Given the description of an element on the screen output the (x, y) to click on. 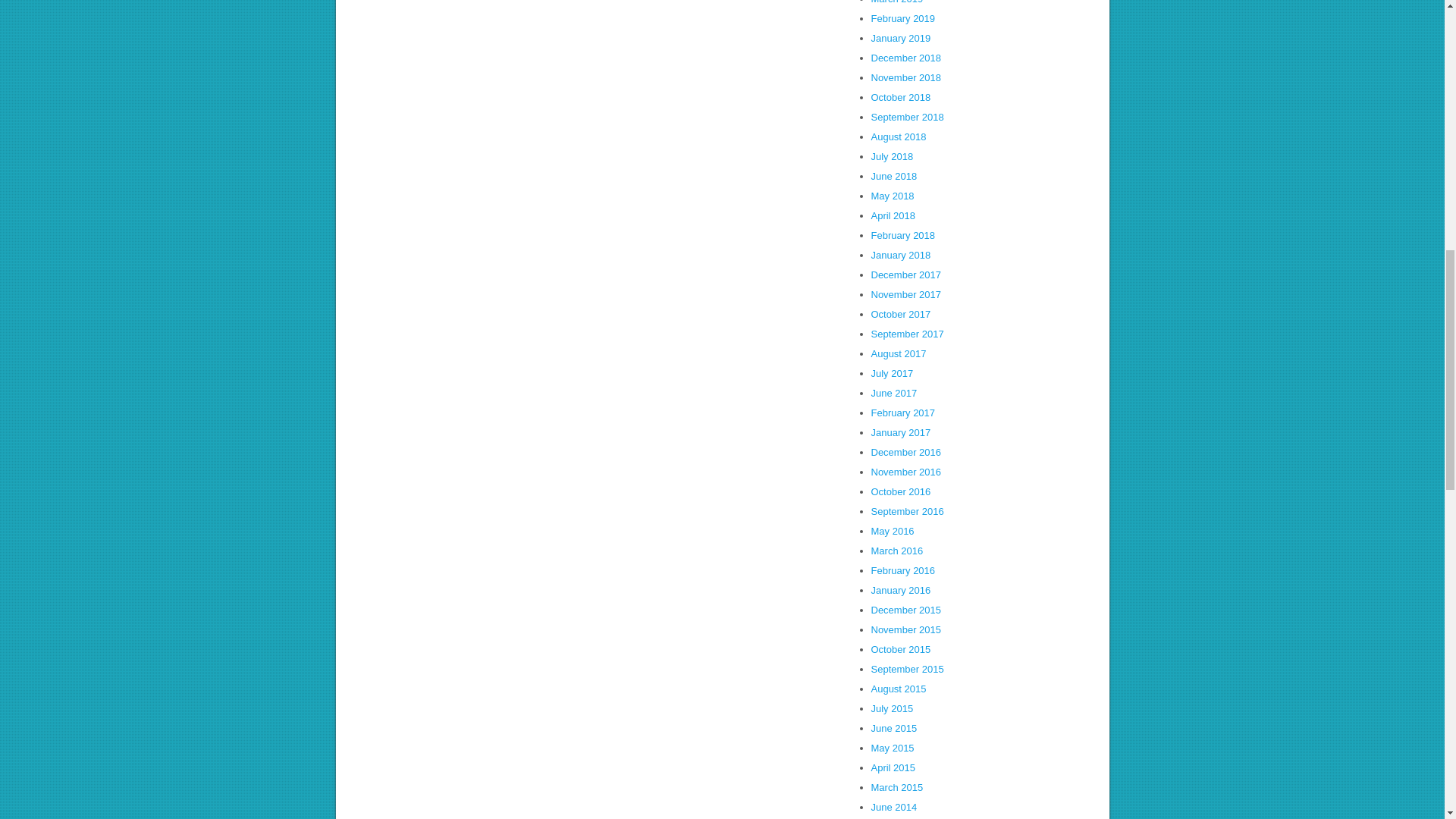
July 2018 (891, 156)
August 2018 (898, 136)
September 2018 (906, 116)
October 2018 (900, 97)
March 2019 (896, 2)
January 2019 (900, 38)
December 2018 (905, 57)
June 2018 (893, 175)
February 2019 (902, 18)
November 2018 (905, 77)
April 2018 (892, 215)
May 2018 (892, 195)
February 2018 (902, 235)
